Given the description of an element on the screen output the (x, y) to click on. 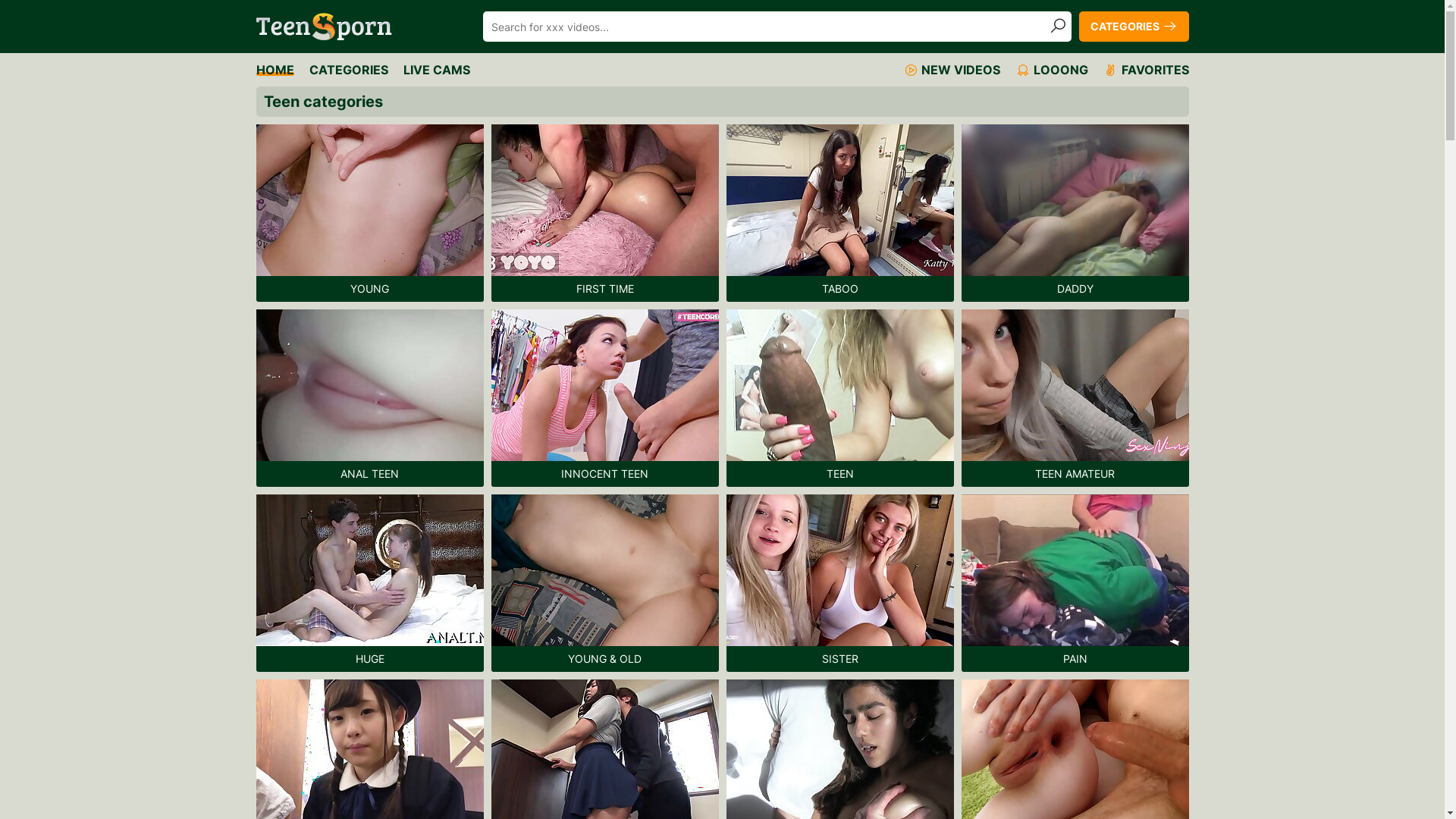
CATEGORIES Element type: text (1133, 26)
HOME Element type: text (275, 69)
TEEN Element type: text (839, 397)
FAVORITES Element type: text (1145, 69)
TEEN AMATEUR Element type: text (1075, 397)
YOUNG & OLD Element type: text (604, 582)
LIVE CAMS Element type: text (436, 69)
LOOONG Element type: text (1050, 69)
CATEGORIES Element type: text (348, 69)
ANAL TEEN Element type: text (369, 397)
HUGE Element type: text (369, 582)
FIRST TIME Element type: text (604, 212)
TABOO Element type: text (839, 212)
NEW VIDEOS Element type: text (950, 69)
SISTER Element type: text (839, 582)
DADDY Element type: text (1075, 212)
INNOCENT TEEN Element type: text (604, 397)
YOUNG Element type: text (369, 212)
PAIN Element type: text (1075, 582)
